Given the description of an element on the screen output the (x, y) to click on. 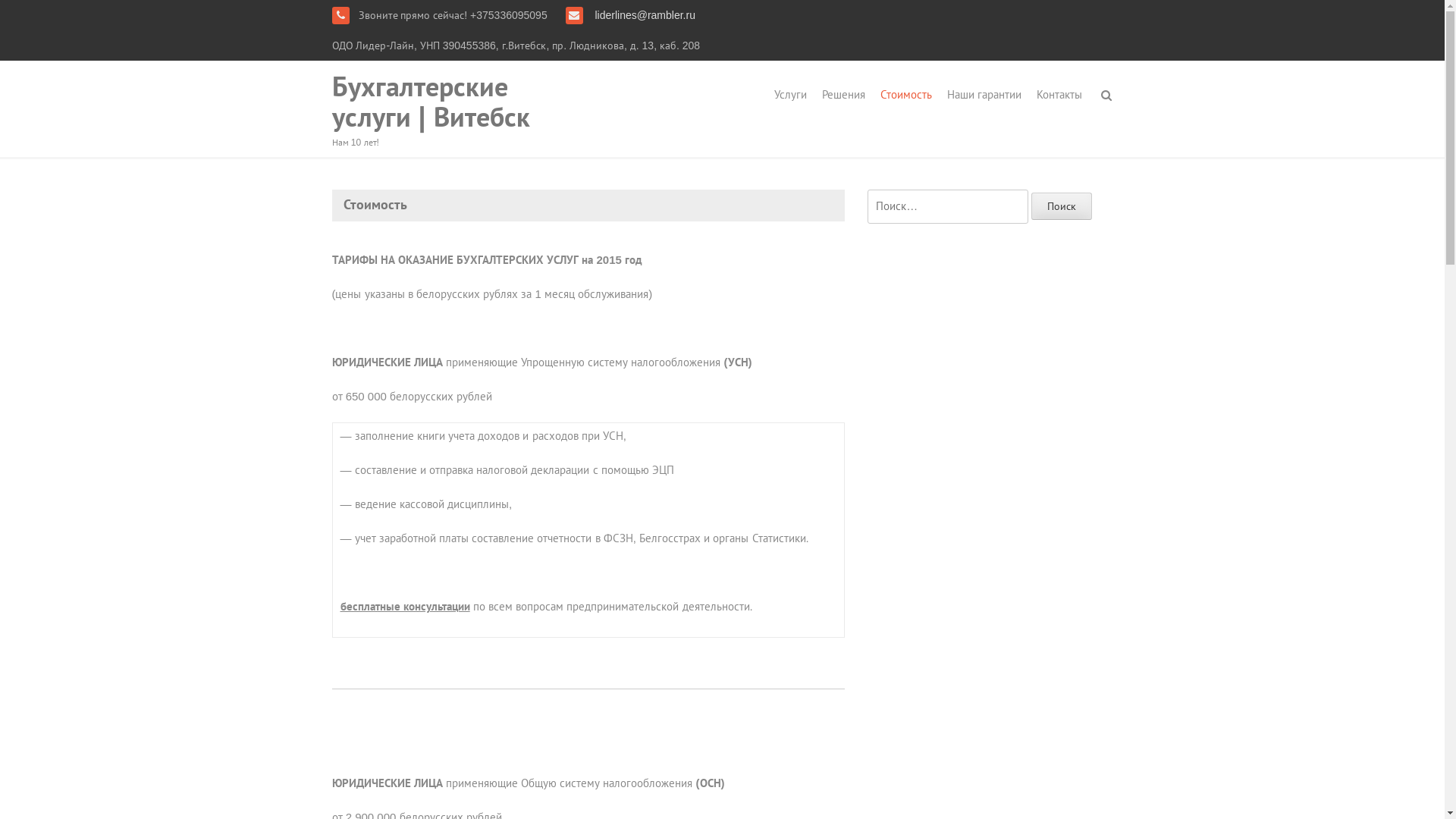
liderlines@rambler.ru Element type: text (643, 15)
